Given the description of an element on the screen output the (x, y) to click on. 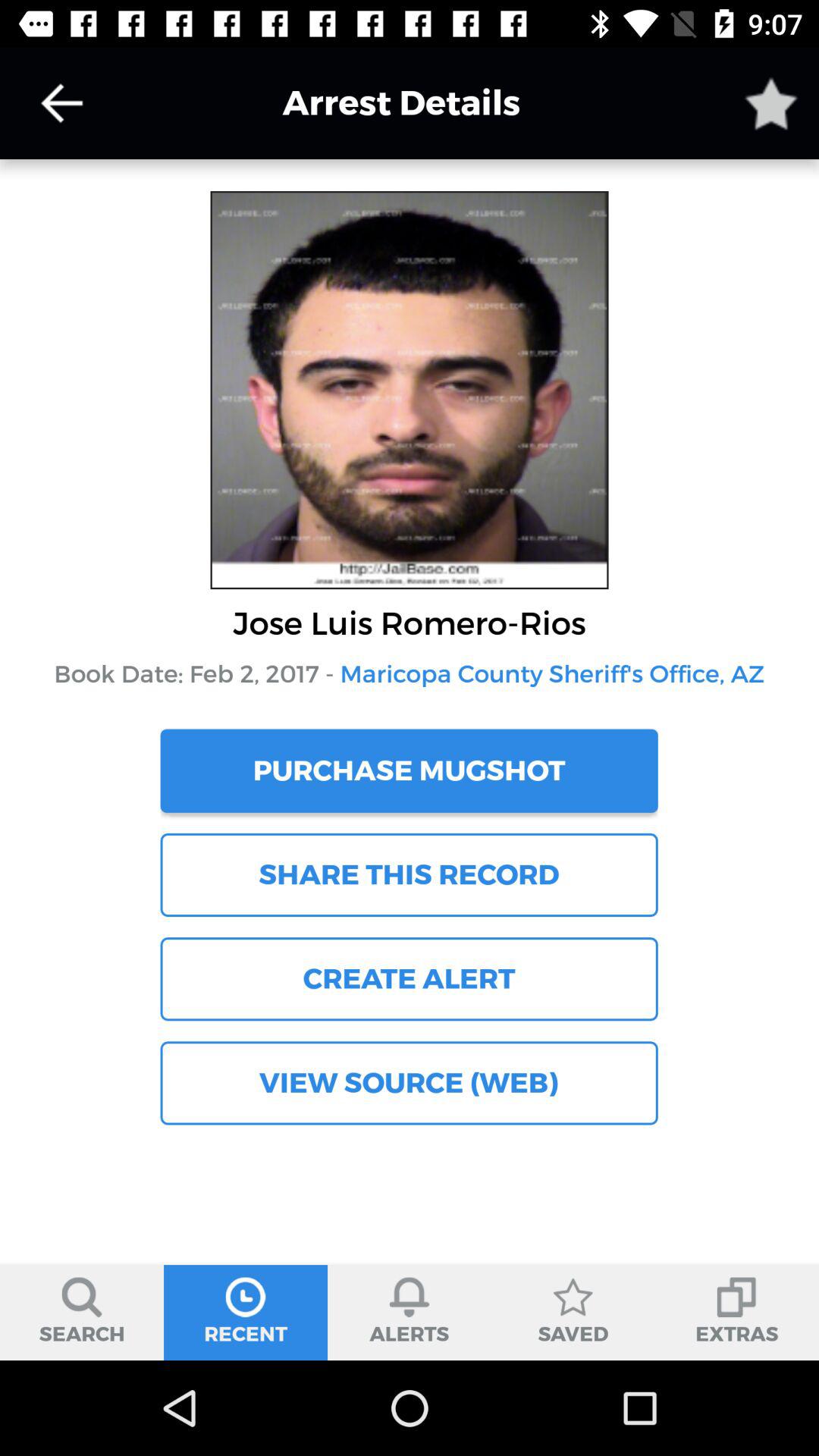
tap the item below the share this record item (409, 978)
